Given the description of an element on the screen output the (x, y) to click on. 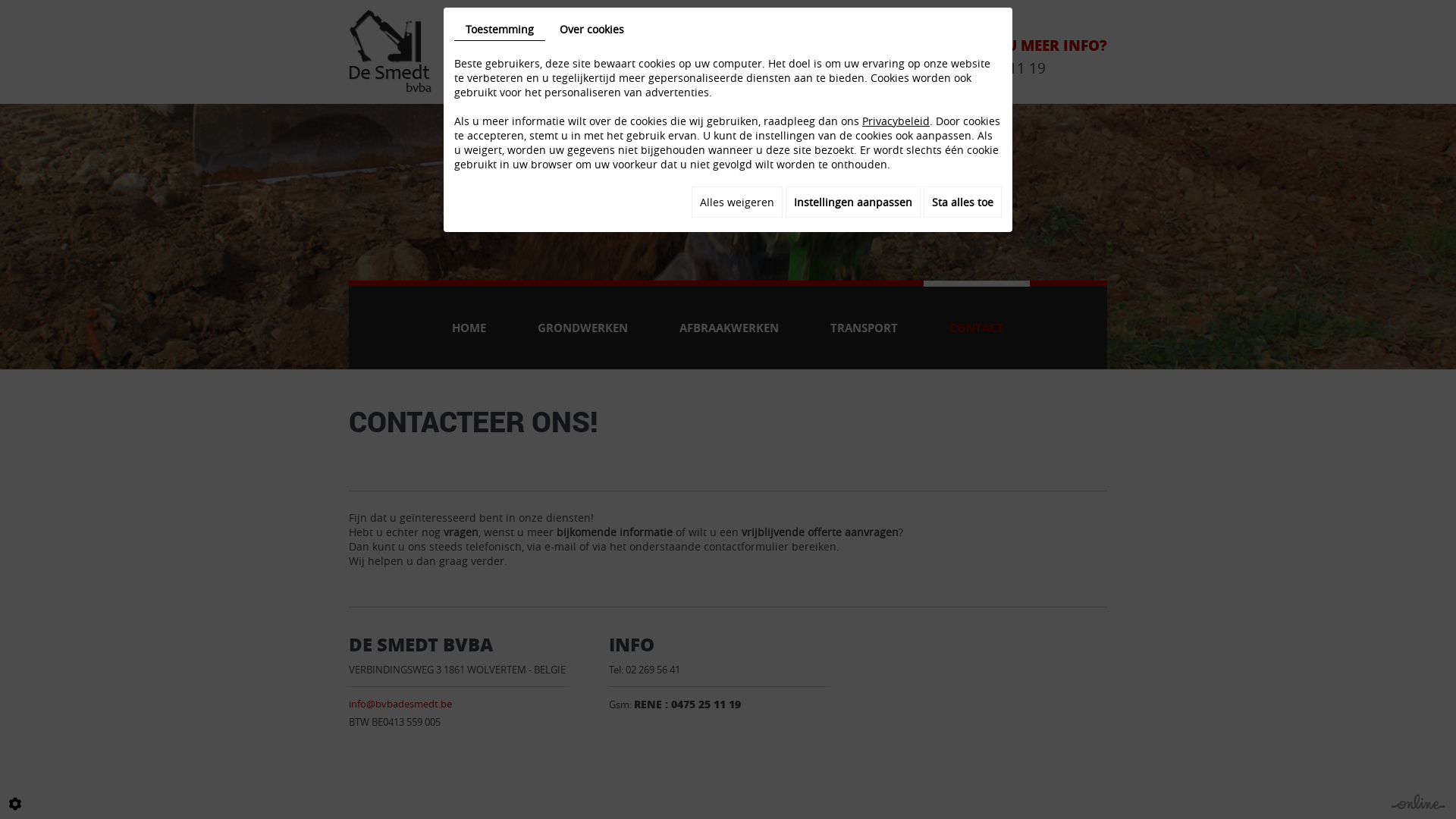
De Smedt bvba - Wolvertem Element type: hover (390, 50)
Sta alles toe Element type: text (962, 201)
CONTACT Element type: text (976, 324)
GRONDWERKEN Element type: text (582, 324)
AFBRAAKWERKEN Element type: text (728, 324)
Privacybeleid Element type: text (895, 120)
Instellingen aanpassen Element type: text (852, 201)
Cookie-instelling bewerken Element type: text (14, 803)
Alles weigeren Element type: text (736, 201)
HOME Element type: text (468, 324)
Over cookies Element type: text (591, 29)
WENST U MEER INFO?
0475 25 11 19 Element type: text (1028, 56)
TRANSPORT Element type: text (863, 324)
Toestemming Element type: text (499, 29)
info@bvbadesmedt.be Element type: text (399, 703)
